Given the description of an element on the screen output the (x, y) to click on. 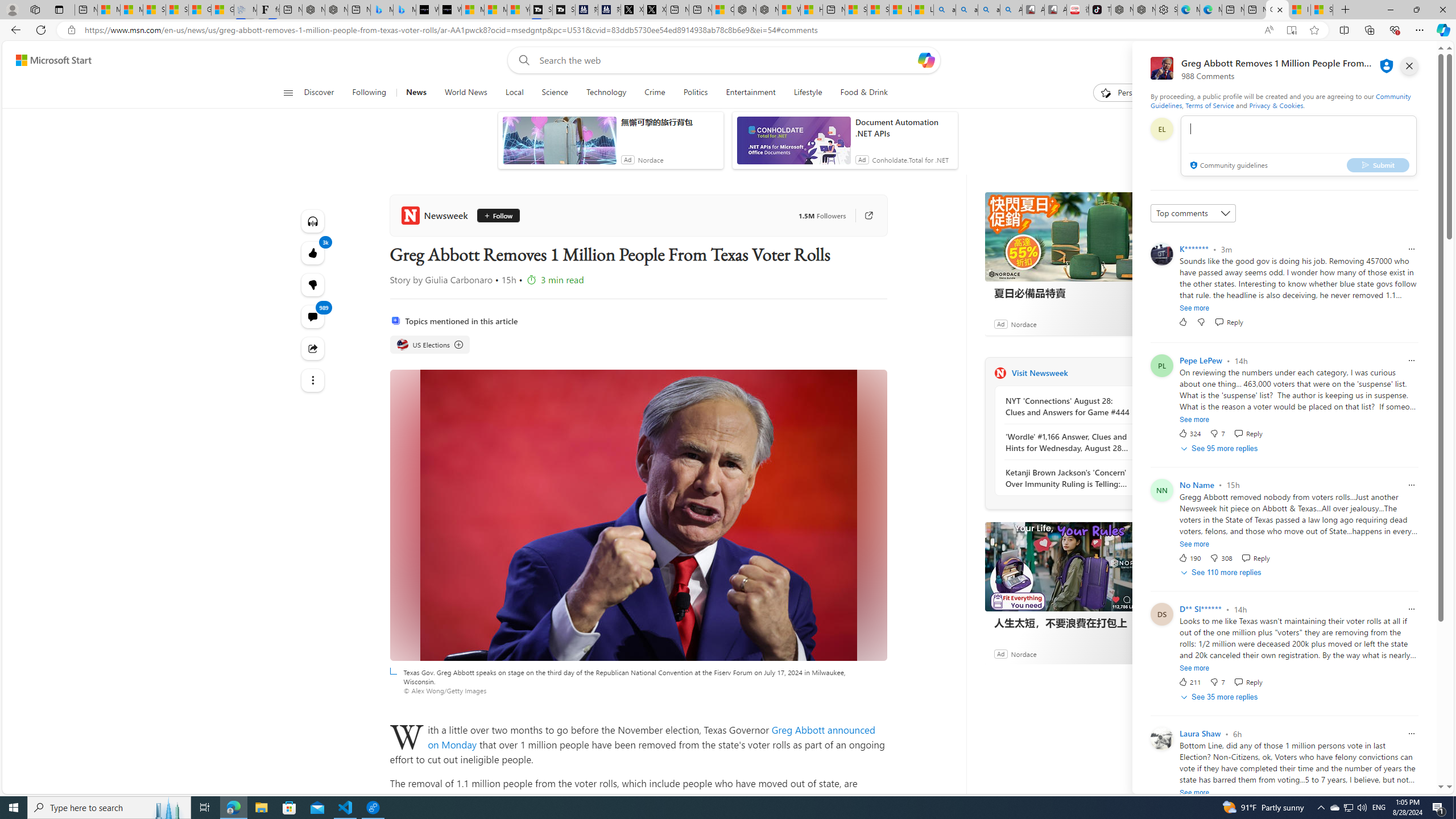
Amazon Echo Robot - Search Images (1010, 9)
Reply Reply Comment (1247, 681)
Crime (655, 92)
Newsweek (436, 215)
